Given the description of an element on the screen output the (x, y) to click on. 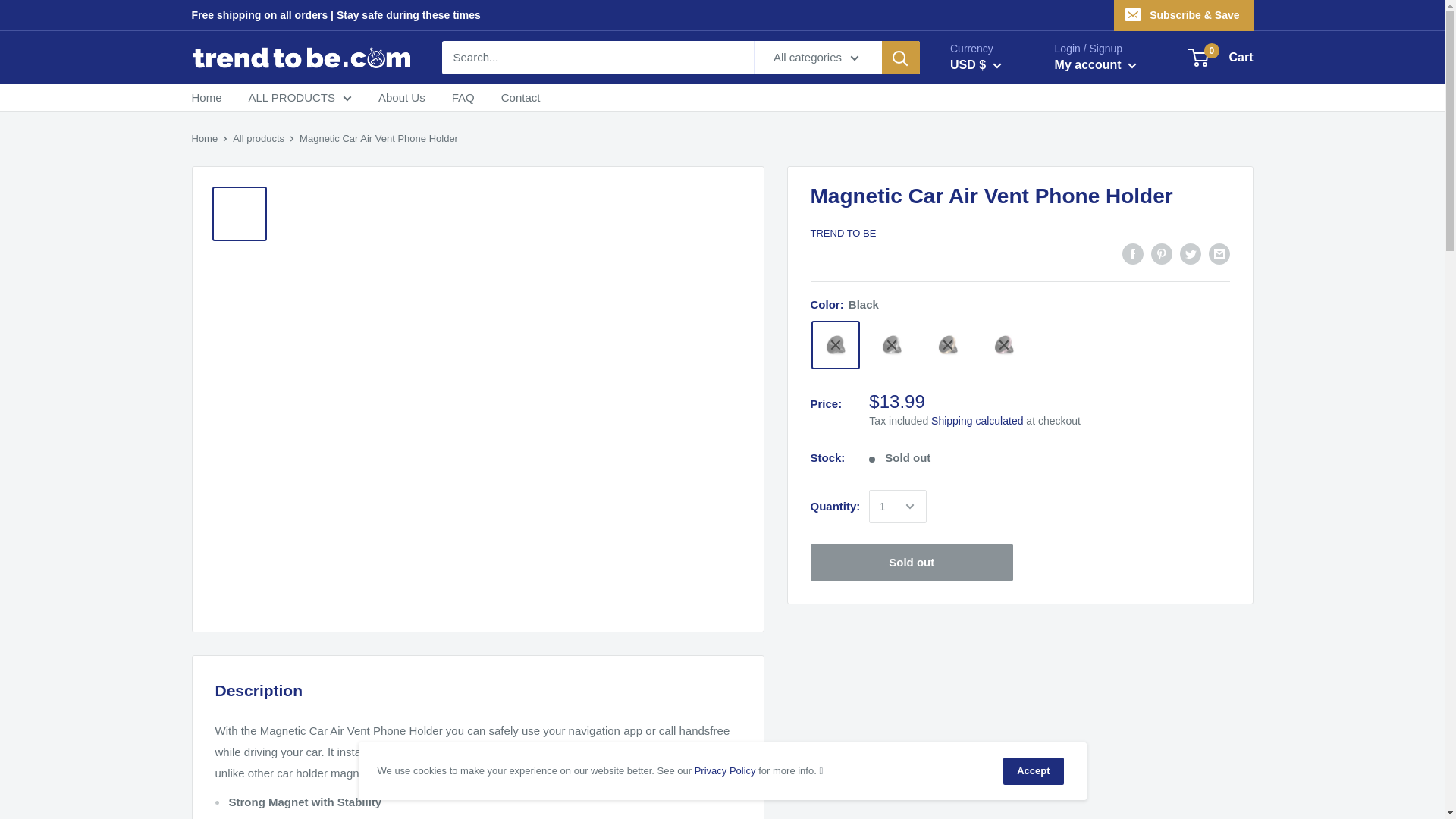
Black (835, 345)
Silver (891, 345)
Gold (947, 345)
PRIVACY POLICY (724, 770)
Rose Gold (1003, 345)
